Given the description of an element on the screen output the (x, y) to click on. 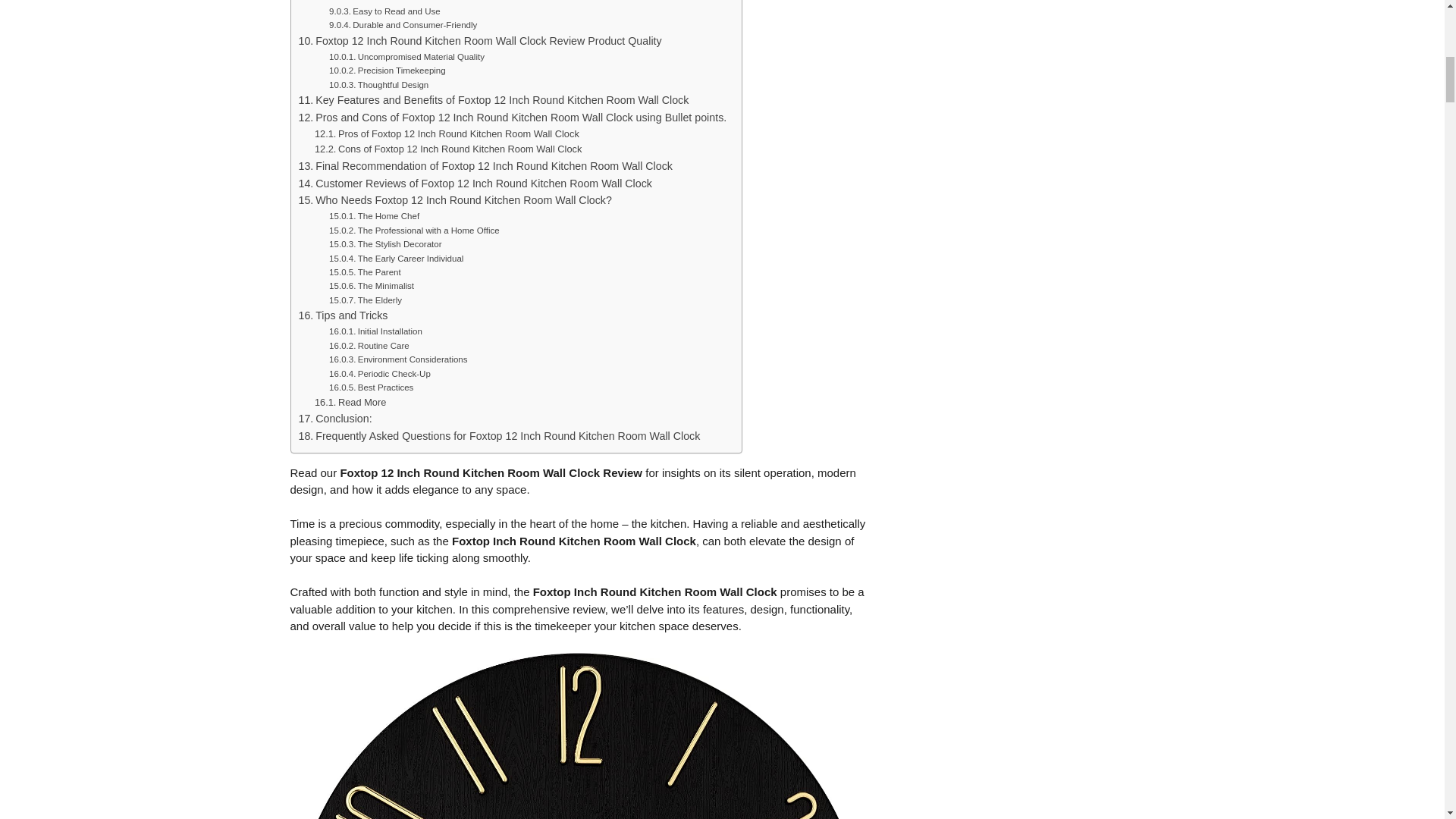
Easy to Read and Use (385, 11)
Silent and Accurate (378, 2)
Easy to Read and Use (385, 11)
Uncompromised Material Quality (406, 56)
Thoughtful Design (378, 84)
Durable and Consumer-Friendly (403, 24)
Silent and Accurate (378, 2)
Precision Timekeeping (387, 69)
Cons of Foxtop 12 Inch Round Kitchen Room Wall Clock (447, 149)
Pros of Foxtop 12 Inch Round Kitchen Room Wall Clock (446, 134)
